Given the description of an element on the screen output the (x, y) to click on. 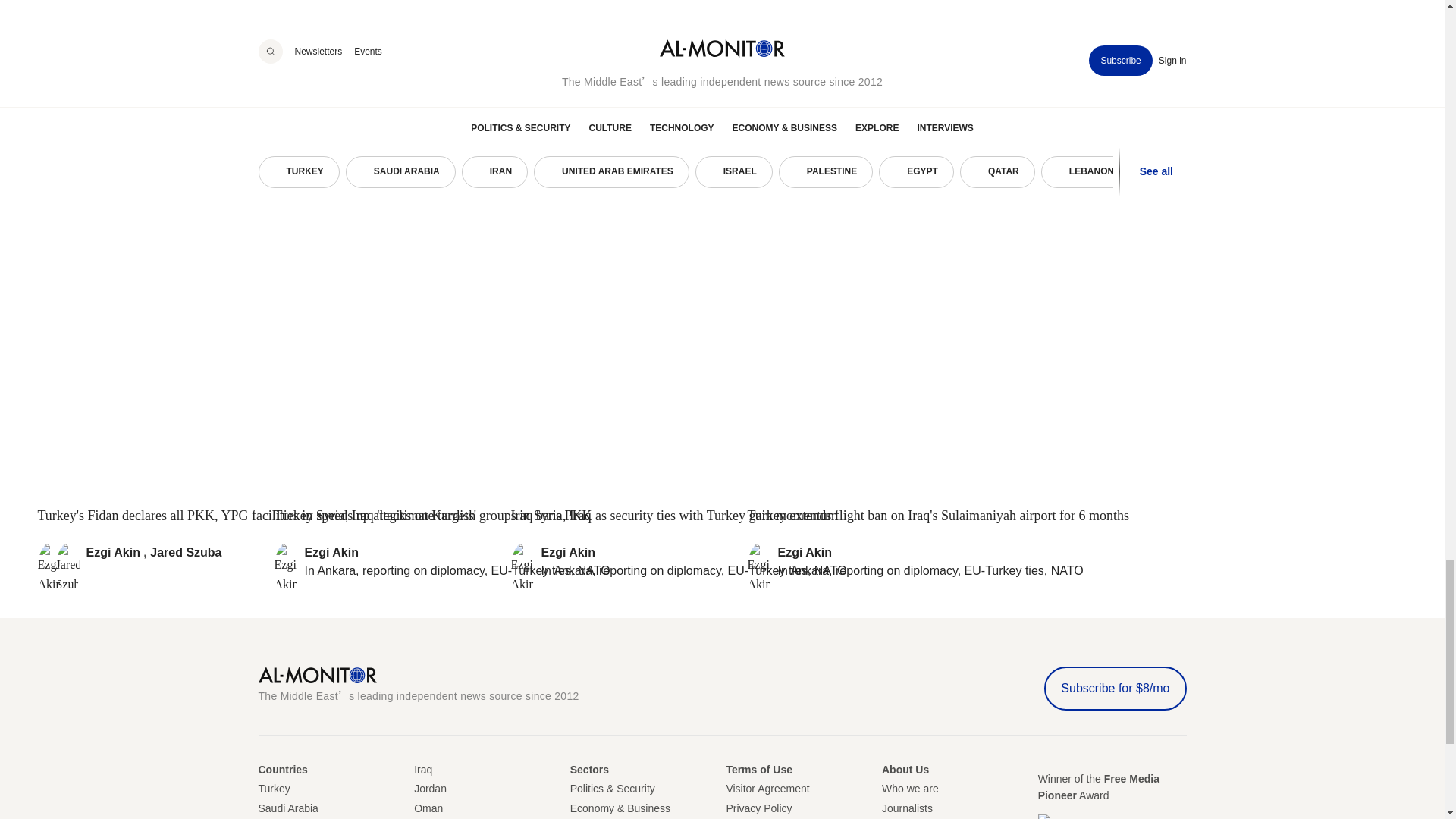
Related Articles (315, 100)
Related Articles (721, 100)
